Given the description of an element on the screen output the (x, y) to click on. 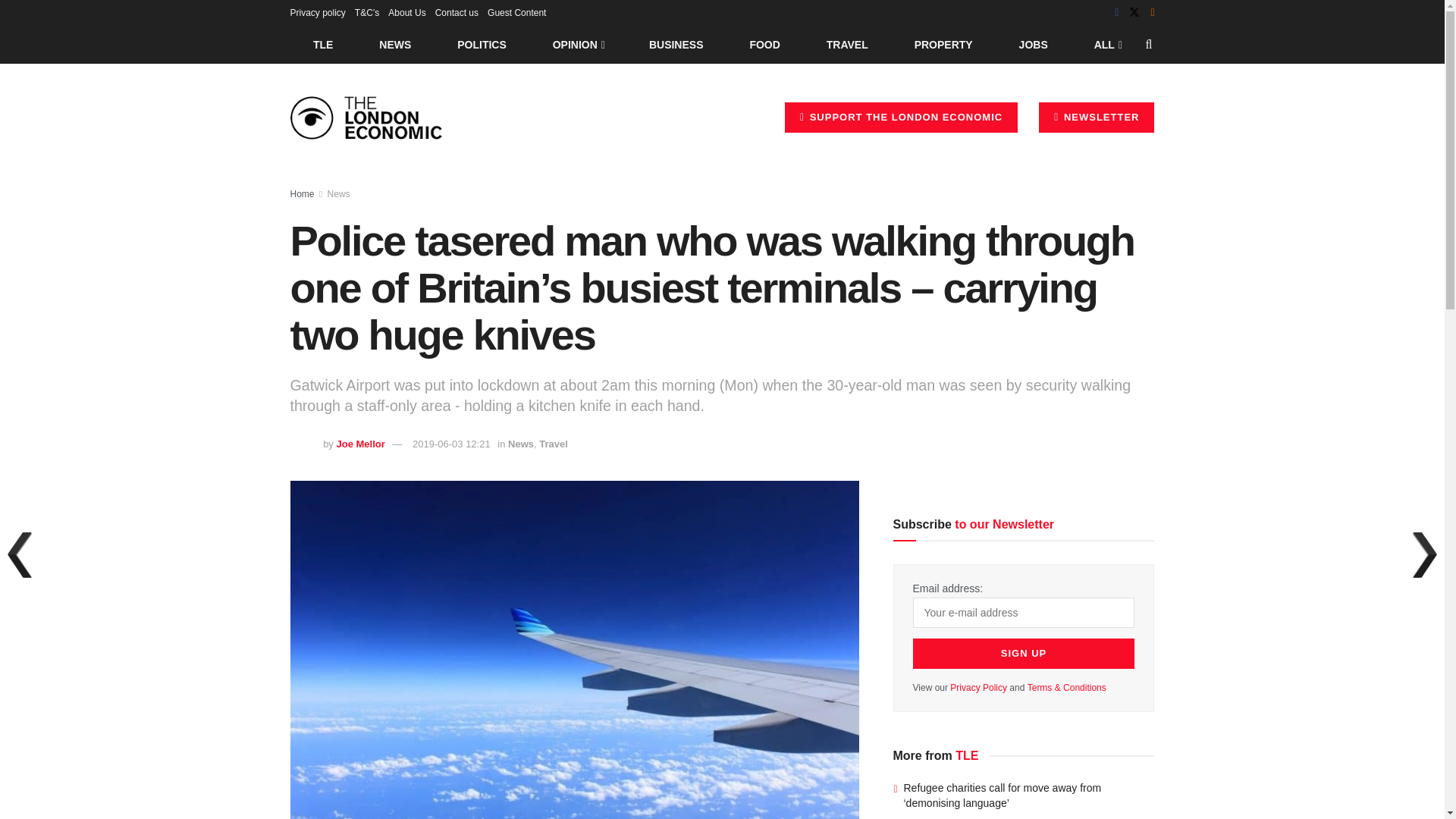
NEWS (394, 44)
Privacy policy (317, 12)
NEWSLETTER (1096, 117)
ALL (1106, 44)
BUSINESS (676, 44)
SUPPORT THE LONDON ECONOMIC (900, 117)
FOOD (764, 44)
TRAVEL (847, 44)
Sign up (1023, 653)
PROPERTY (943, 44)
